Given the description of an element on the screen output the (x, y) to click on. 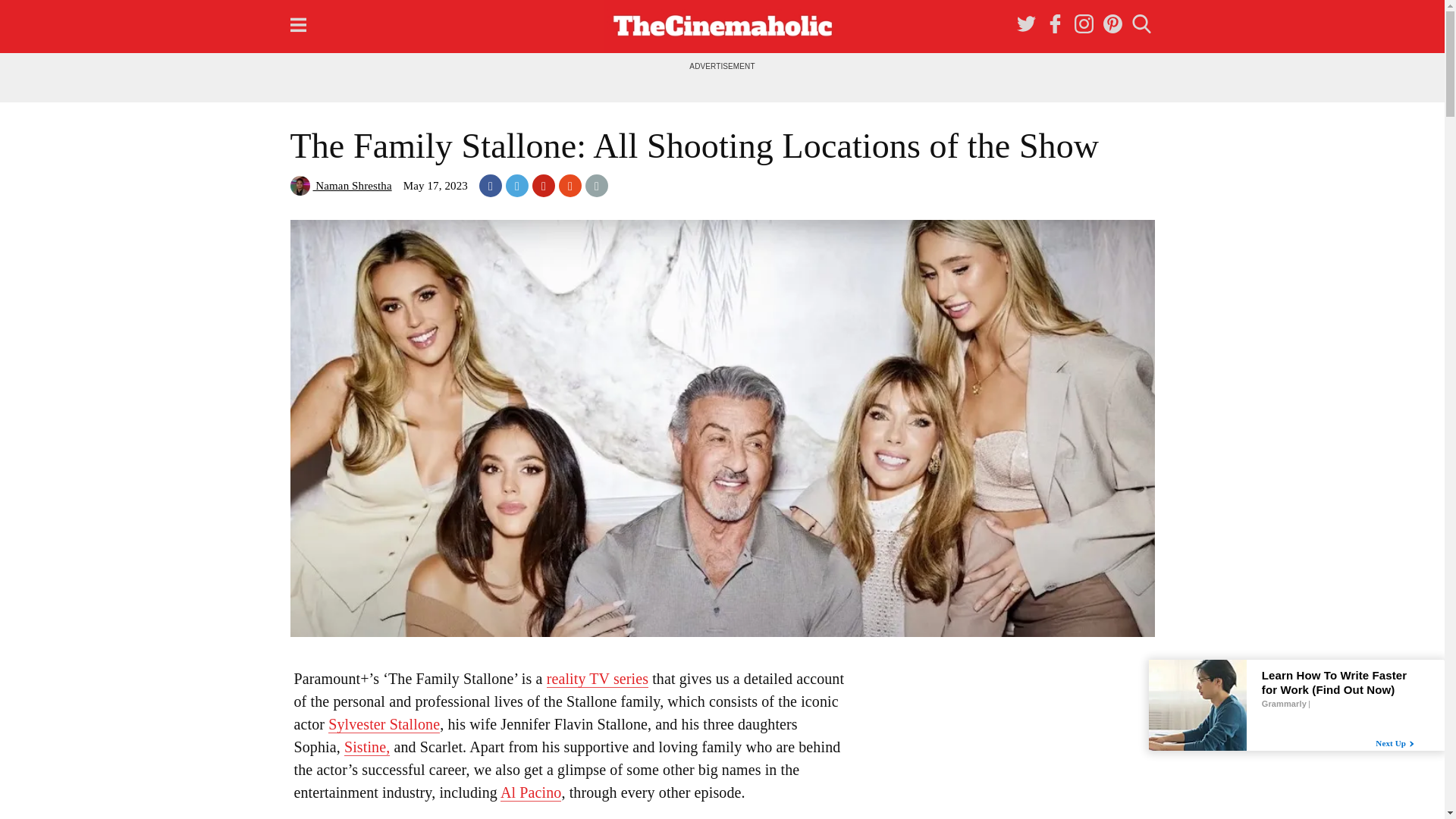
Al Pacino (530, 792)
Naman Shrestha (340, 185)
Sistine, (366, 746)
reality TV series (597, 678)
Sylvester Stallone (384, 724)
